Given the description of an element on the screen output the (x, y) to click on. 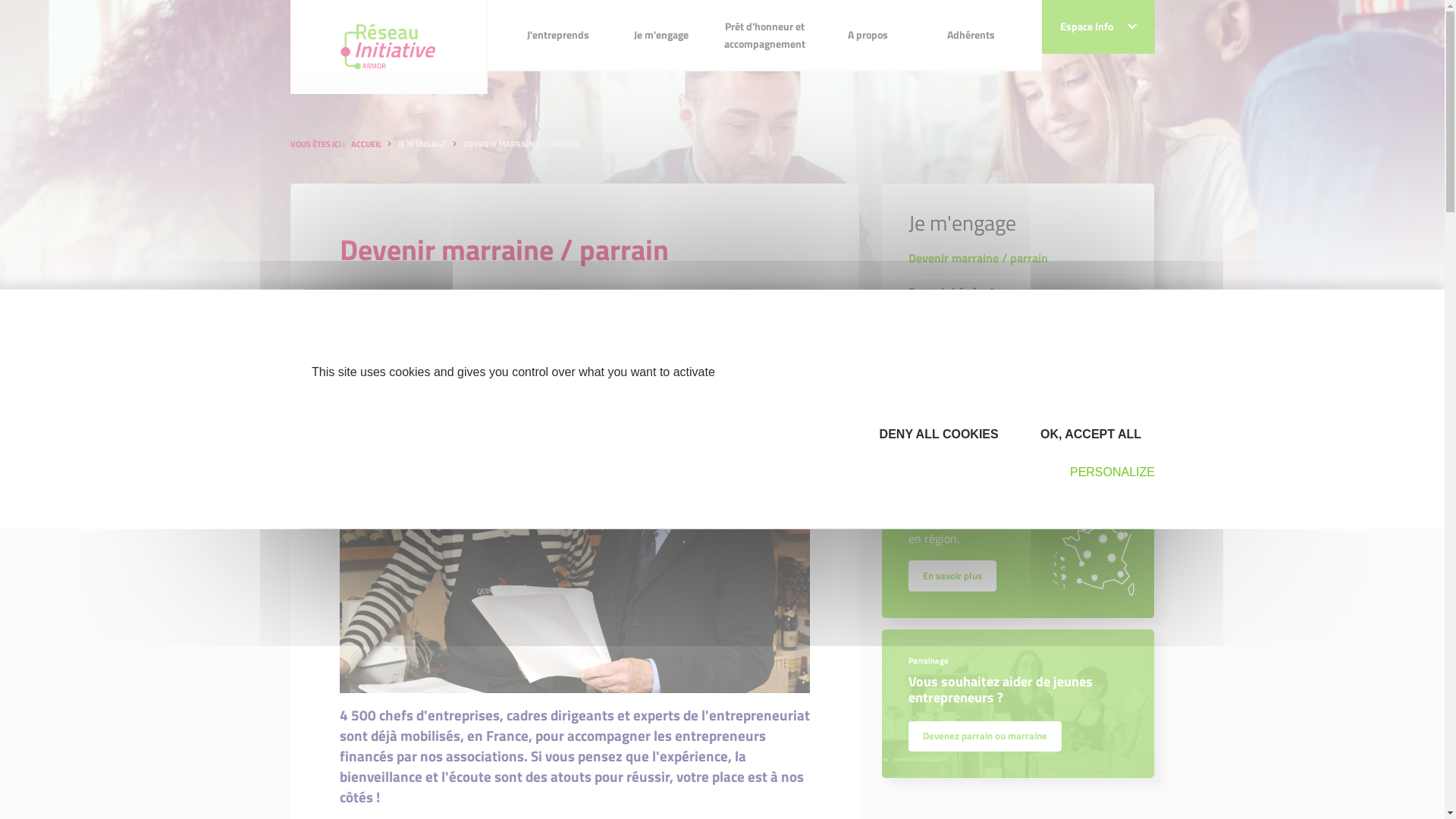
ACCUEIL Element type: text (365, 144)
JE M'ENGAGE Element type: text (421, 144)
PERSONALIZE Element type: text (1105, 472)
J'entreprends Element type: text (558, 34)
Devenez parrain ou marraine Element type: text (984, 736)
Devenir marraine / parrain Element type: text (1018, 257)
Je m'engage Element type: text (660, 34)
Cliquez ici Element type: text (1065, 387)
En savoir plus Element type: text (952, 575)
Initiative Armor Element type: hover (387, 46)
OK, ACCEPT ALL Element type: text (1086, 434)
Cliquez ici Element type: text (1065, 385)
DENY ALL COOKIES Element type: text (934, 434)
Espace Info Element type: text (1097, 26)
Devenez parrain ou marraine Element type: text (984, 734)
DEVENIR MARRAINE / PARRAIN Element type: text (520, 144)
En savoir plus Element type: text (952, 573)
A propos Element type: text (867, 34)
